Given the description of an element on the screen output the (x, y) to click on. 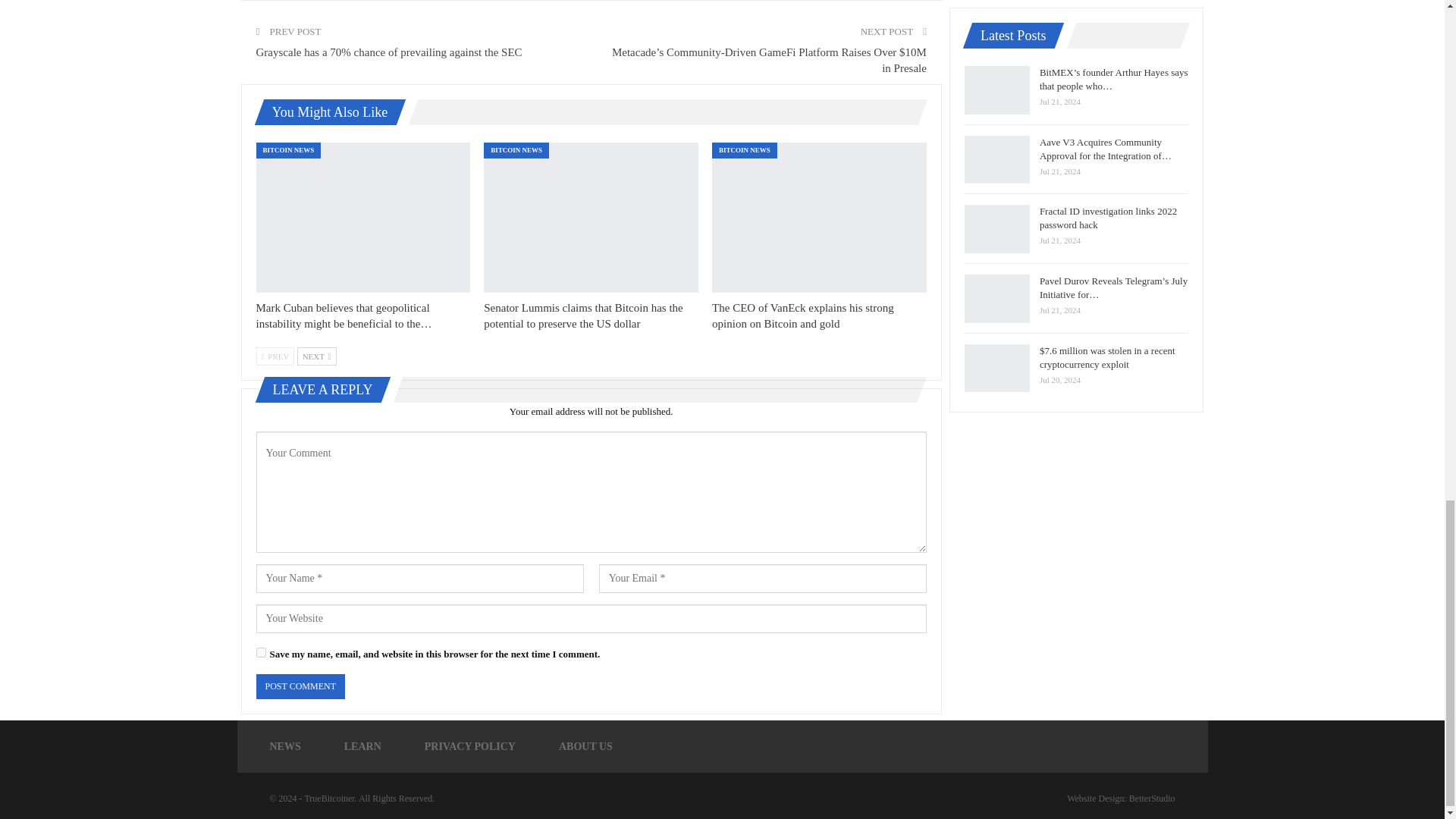
Previous (275, 356)
Next (316, 356)
yes (261, 652)
Post Comment (300, 686)
